Given the description of an element on the screen output the (x, y) to click on. 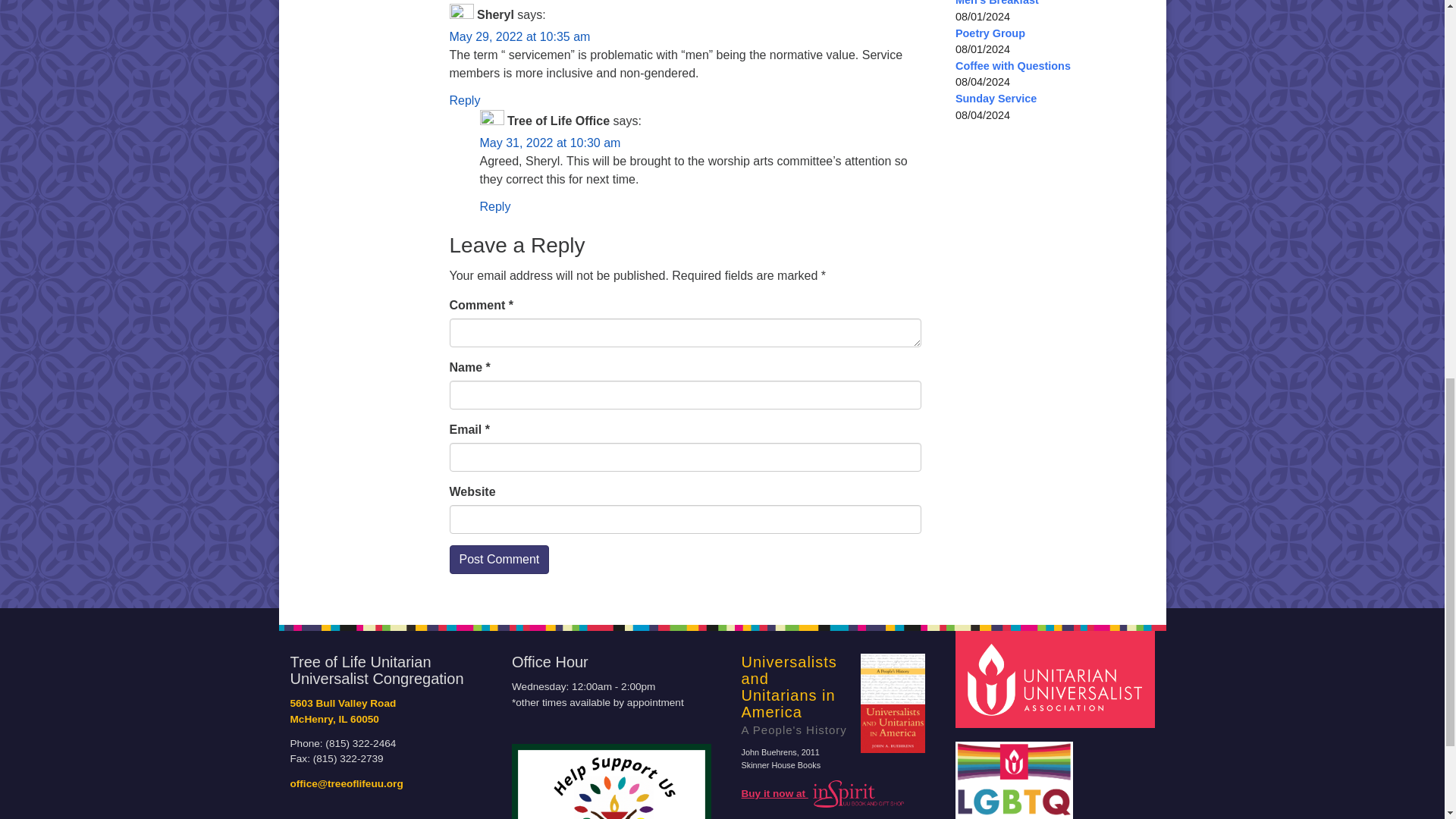
Post Comment (498, 559)
